Given the description of an element on the screen output the (x, y) to click on. 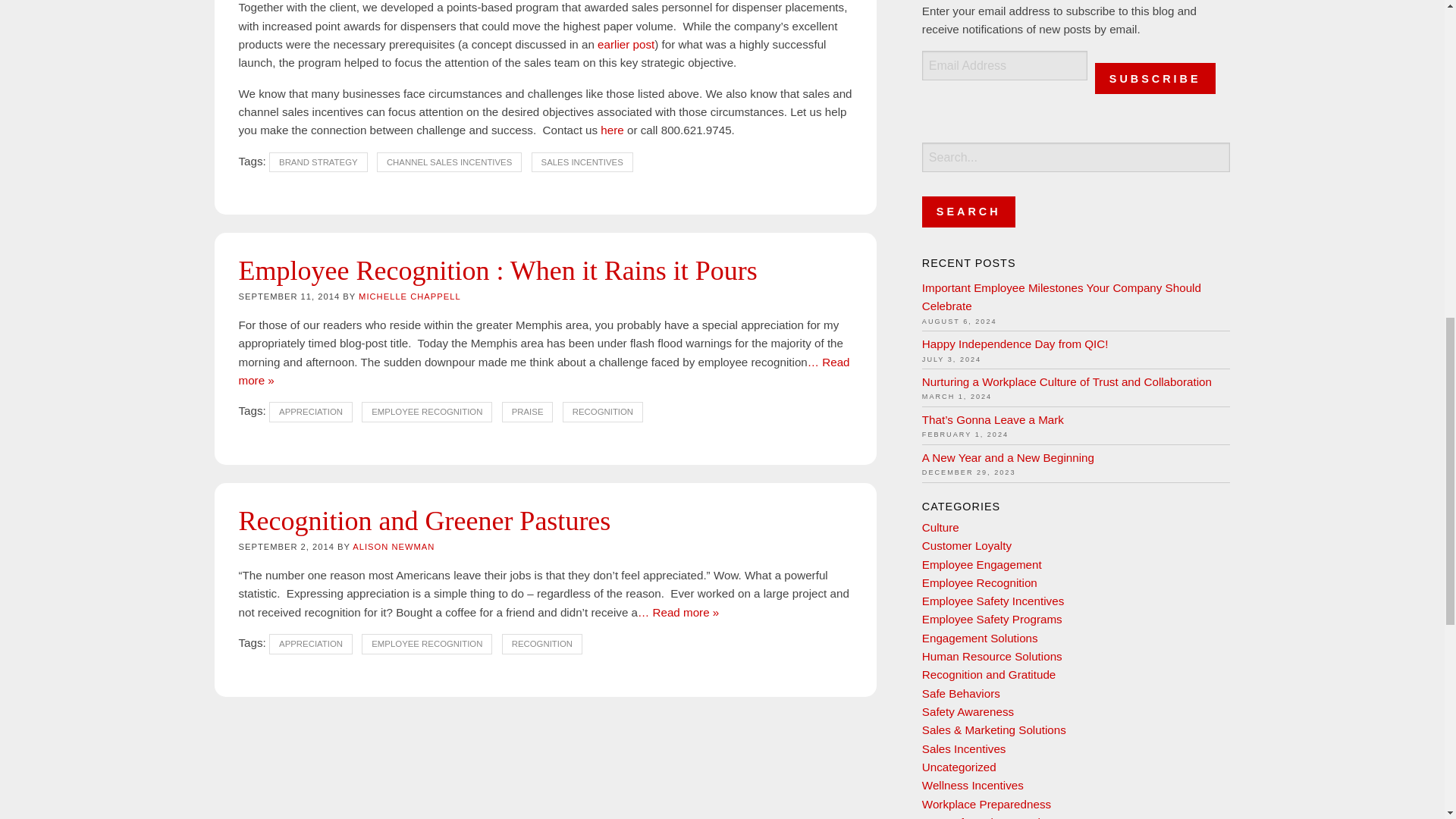
Posts by Michelle Chappell (409, 296)
Recognition and Greener Pastures (424, 521)
Posts by Alison Newman (392, 546)
Employee Recognition : When it Rains it Pours (497, 270)
Search (967, 211)
ReadEmployee Recognition : When it Rains it Pours (543, 370)
Search (967, 211)
Search for: (1075, 156)
ReadRecognition and Greener Pastures (678, 612)
